Given the description of an element on the screen output the (x, y) to click on. 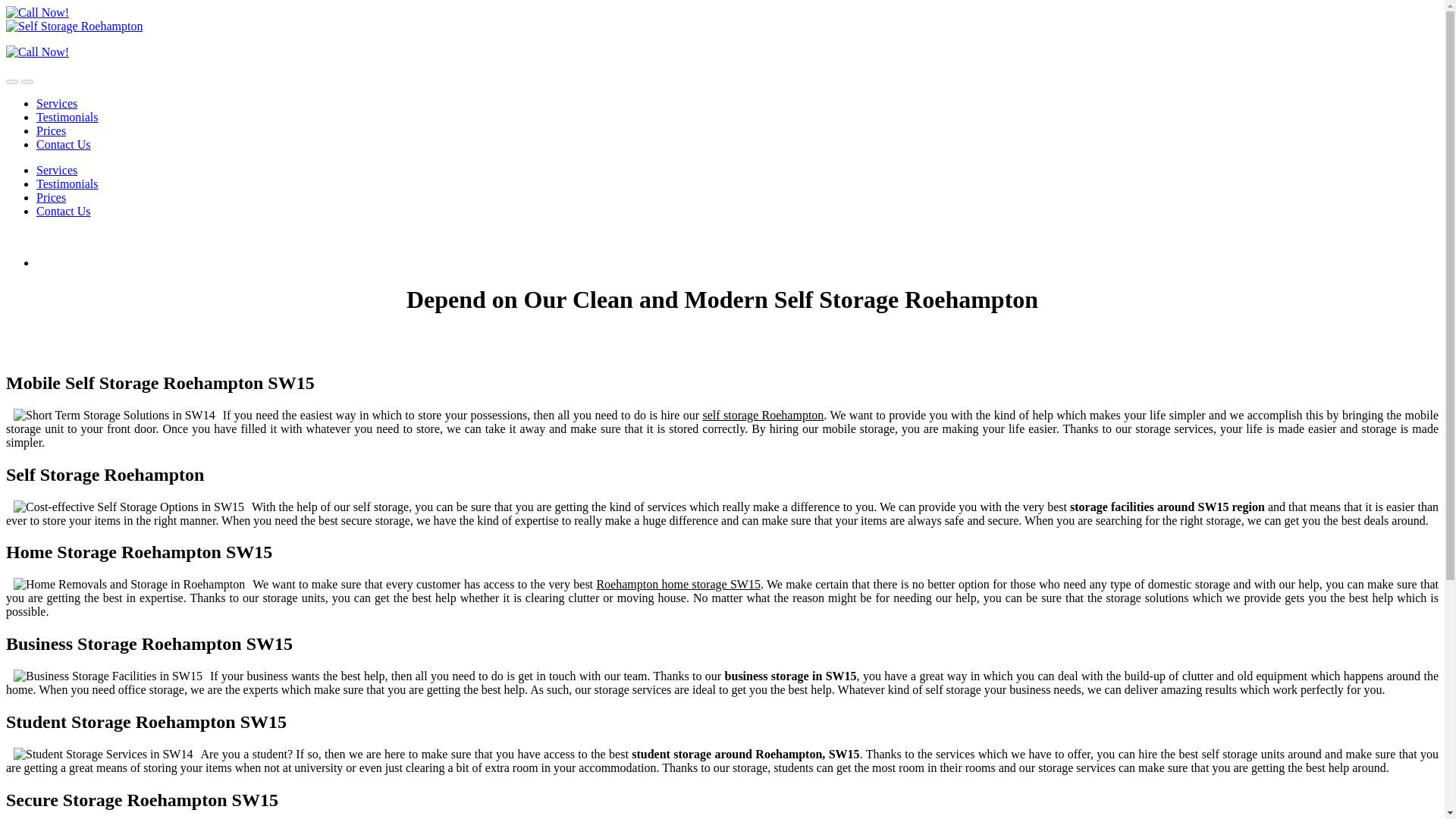
Testimonials (67, 183)
Call Now! (36, 51)
Contact Us (63, 144)
Contact Us (63, 210)
Services (56, 169)
Prices (50, 130)
Call Now! (36, 11)
Services (56, 103)
Testimonials (67, 116)
Prices (50, 196)
